Given the description of an element on the screen output the (x, y) to click on. 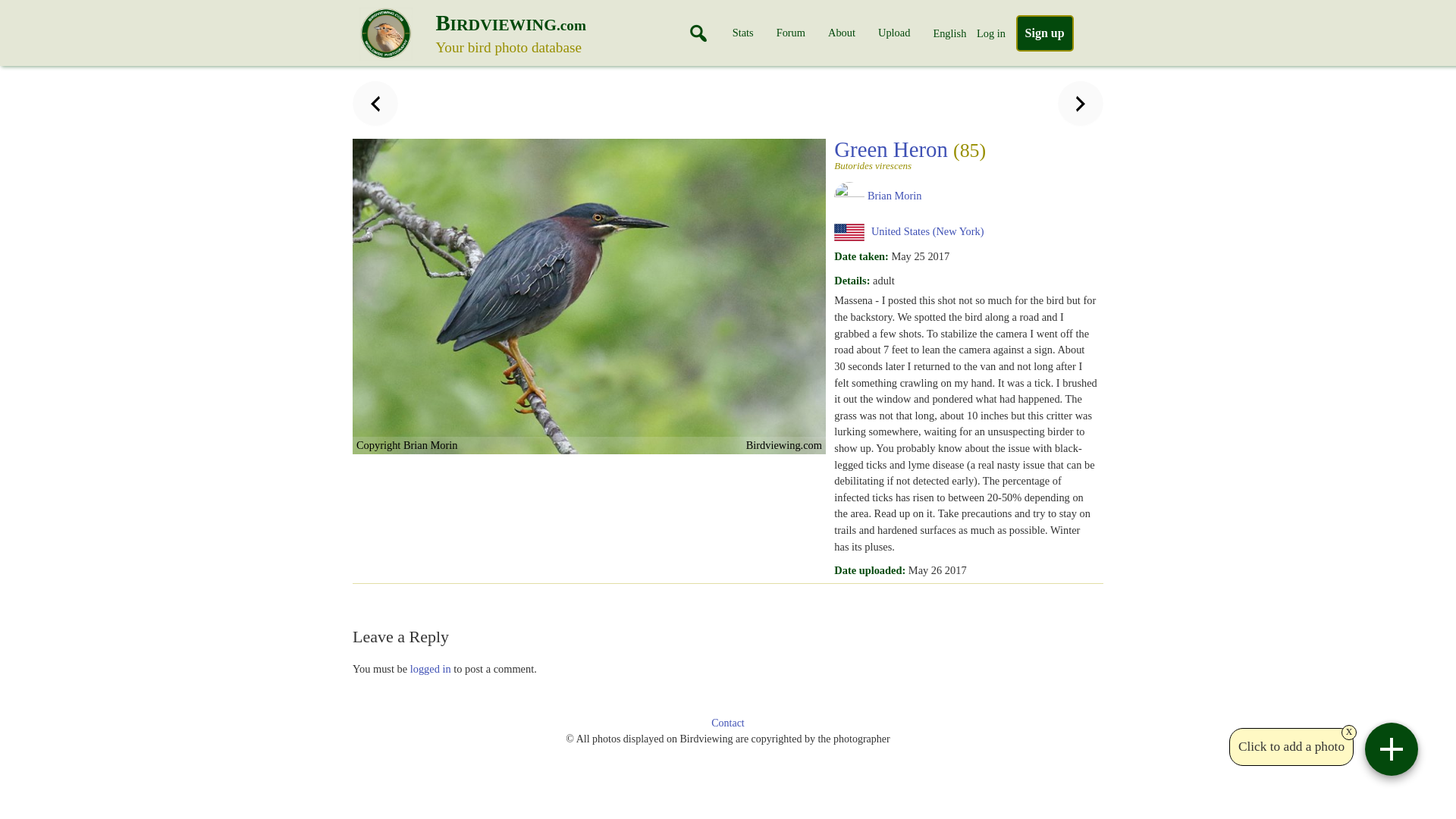
Sign up (1045, 33)
Brian Morin (894, 195)
Log in (991, 33)
Contact (727, 722)
English (949, 33)
Sign up (1045, 33)
About (842, 33)
Stats (743, 33)
Upload (549, 36)
logged in (893, 33)
Forum (430, 668)
